Given the description of an element on the screen output the (x, y) to click on. 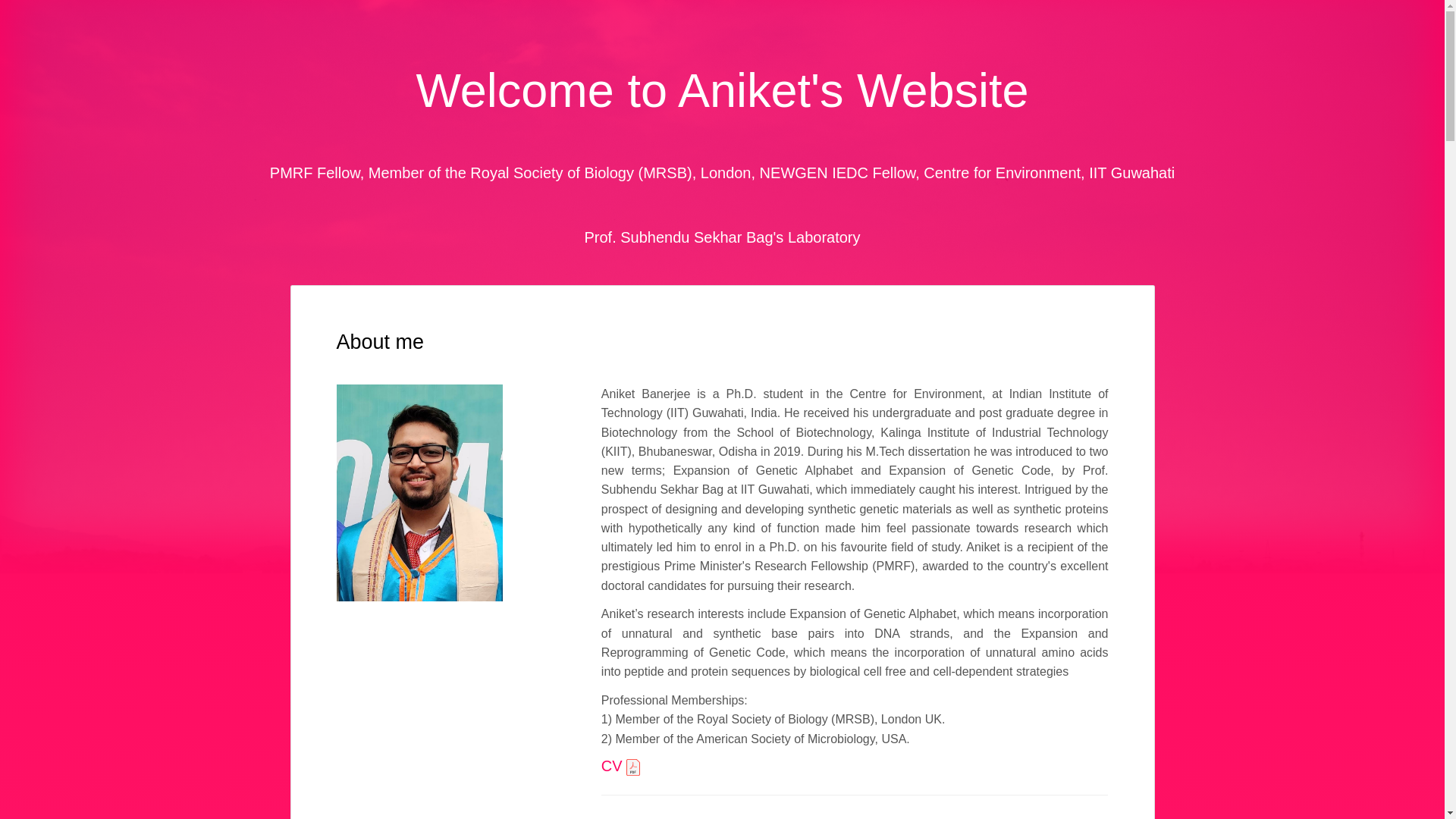
CV (620, 765)
